Given the description of an element on the screen output the (x, y) to click on. 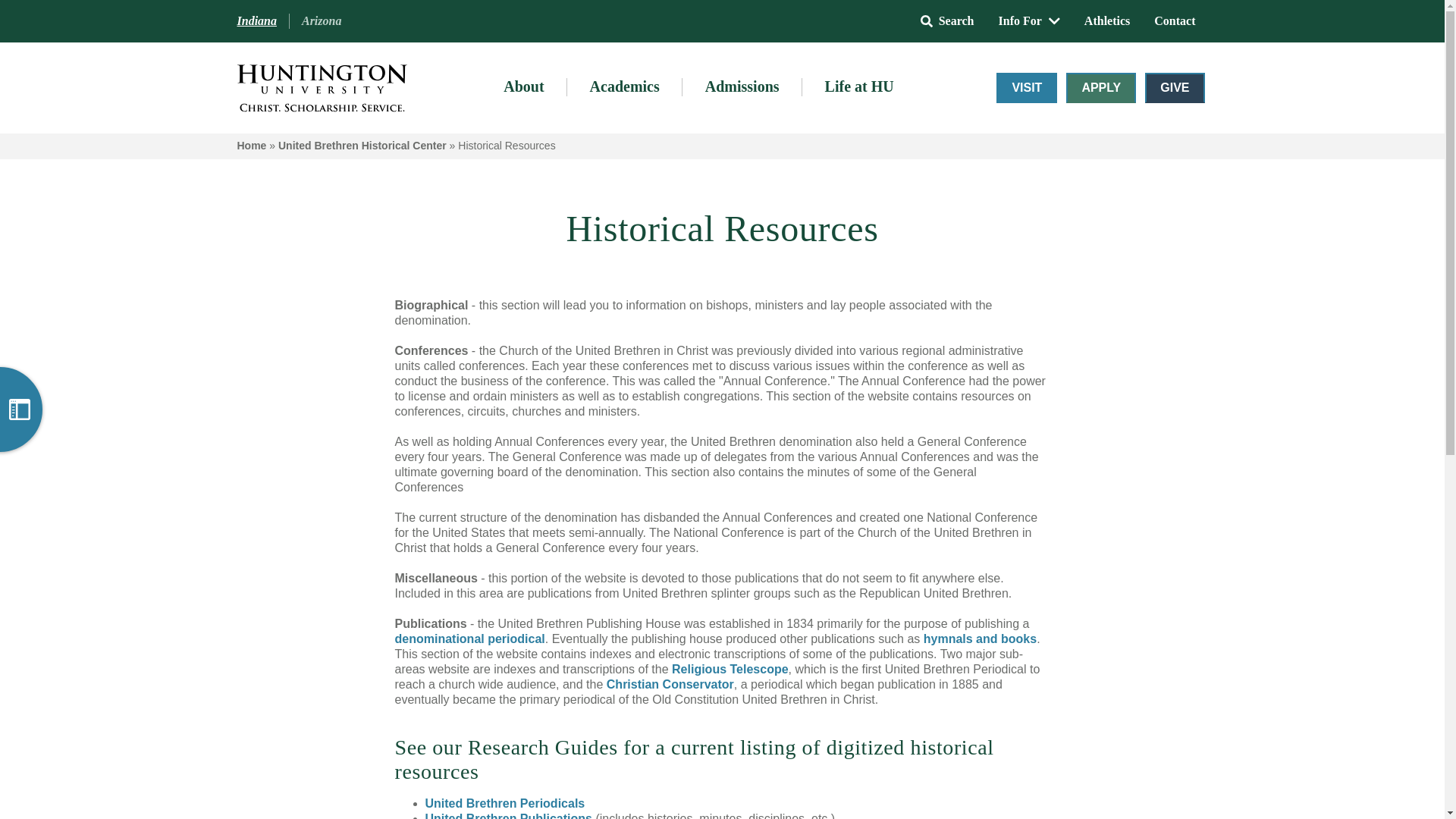
Contact (1174, 20)
Search (947, 20)
Athletics (1106, 20)
Info For (1029, 20)
Arizona (321, 20)
About (523, 87)
